Given the description of an element on the screen output the (x, y) to click on. 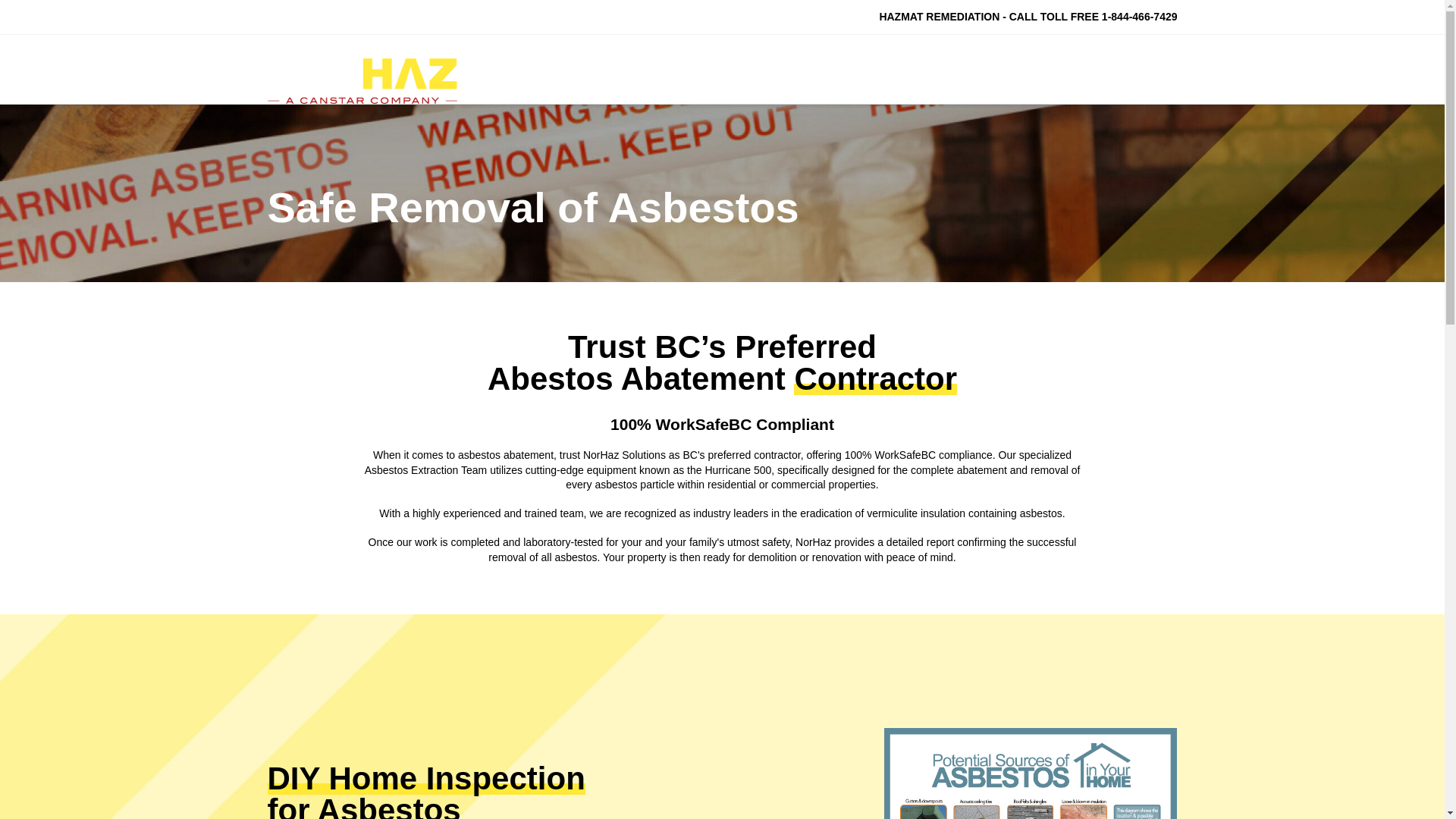
1-844-466-7429 (1139, 16)
CONTACT US (1125, 69)
RESOURCES (1021, 69)
ABOUT (836, 69)
SERVICES (921, 69)
